Given the description of an element on the screen output the (x, y) to click on. 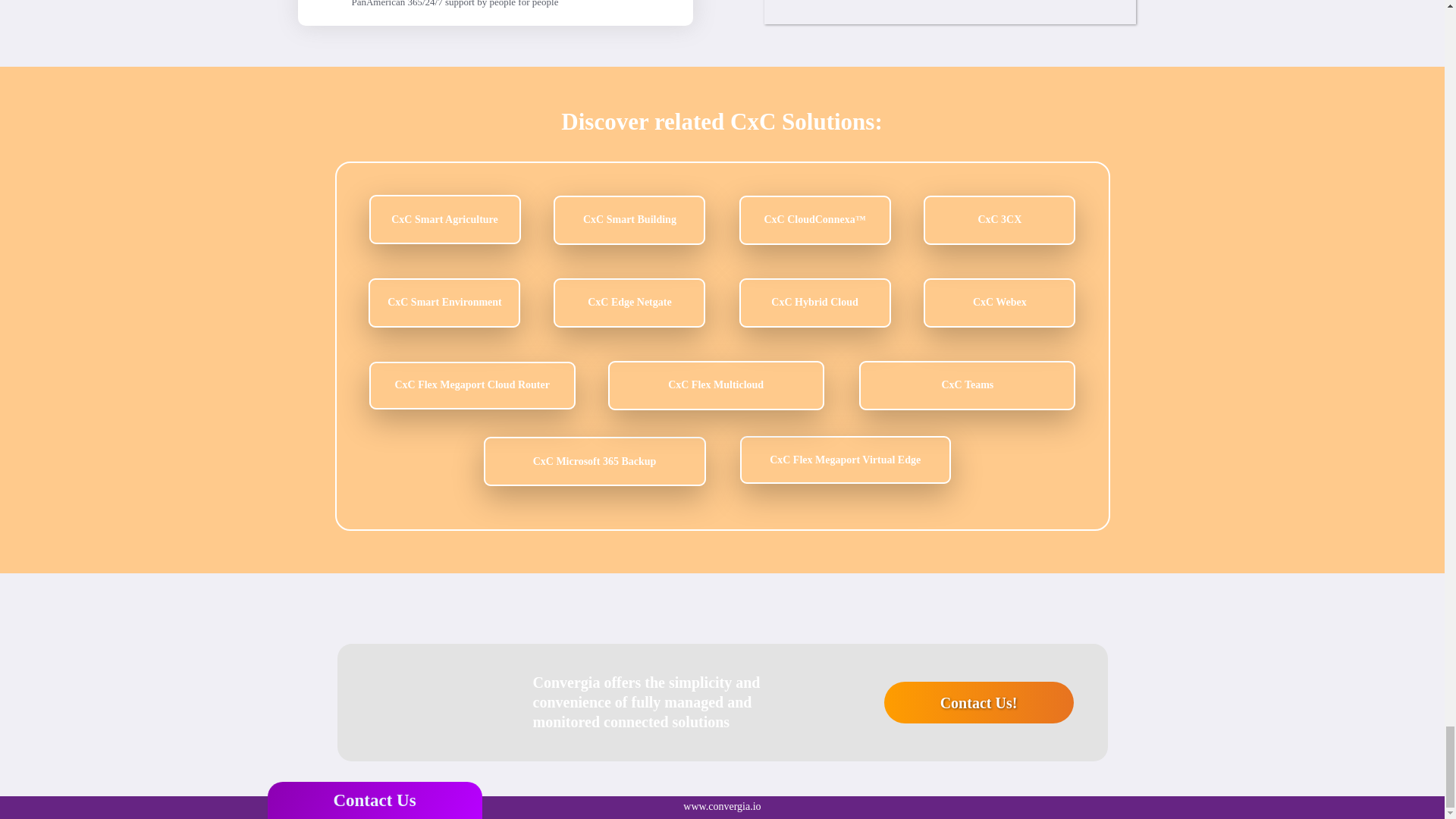
CxC Smart Building (628, 219)
CxC Webex (999, 302)
CxC Hybrid Cloud (815, 302)
CxC Flex Megaport Virtual Edge (844, 459)
CxC Smart Environment (443, 302)
CxC Smart Agriculture (443, 219)
CxC Microsoft 365 Backup (594, 461)
CxC Flex Megaport Cloud Router (471, 385)
Contact Us! (978, 702)
CxC Teams (967, 385)
